Given the description of an element on the screen output the (x, y) to click on. 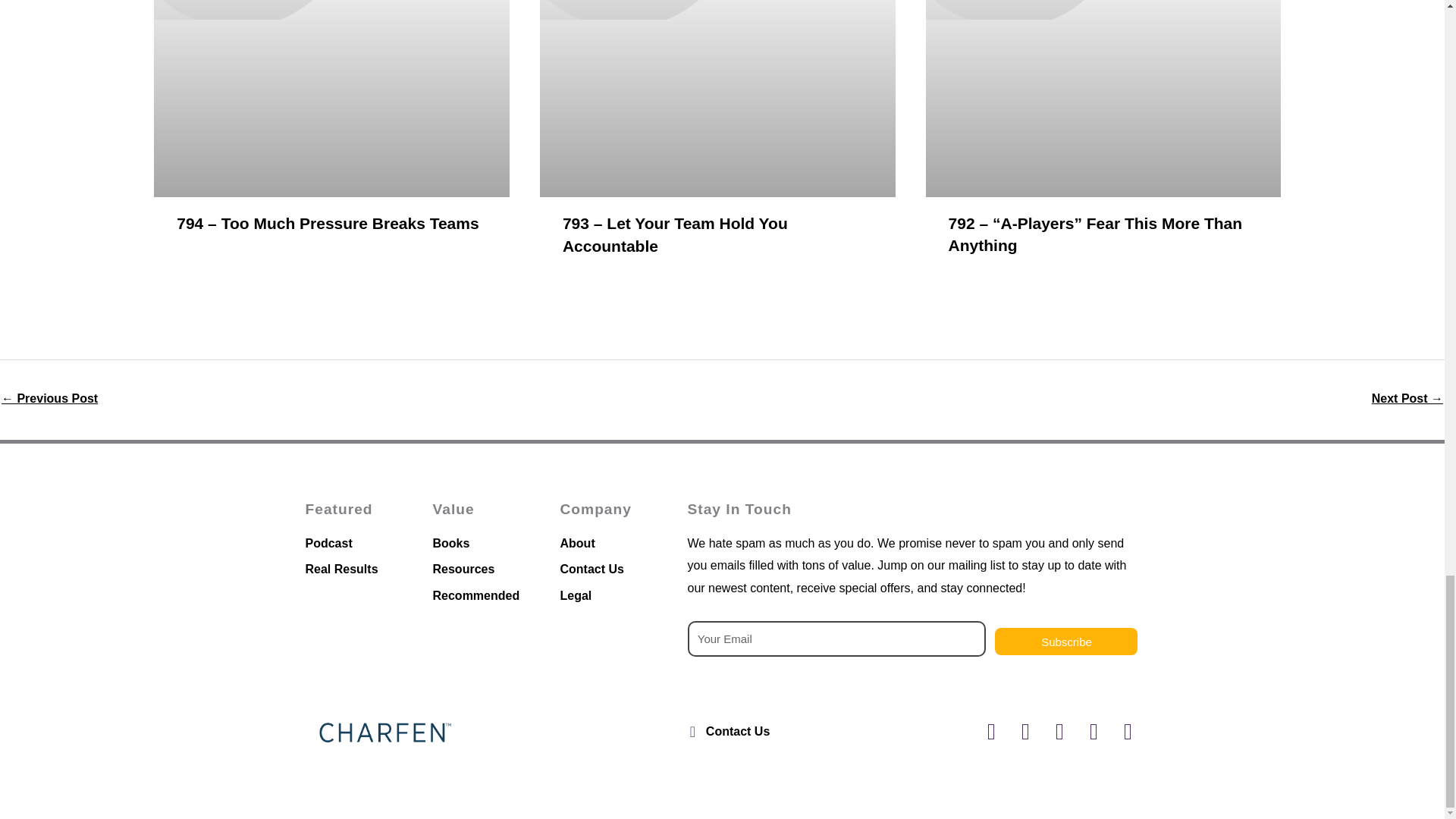
Facebook (991, 731)
Youtube (1059, 731)
About (615, 543)
343 - Entrepreneurs Are Never Losers (49, 399)
Legal (615, 595)
Resources (488, 568)
Contact Us (615, 568)
Instagram (1024, 731)
Real Results (360, 568)
345 - Don't Make A Desperate Hiring Decision (1406, 399)
